Given the description of an element on the screen output the (x, y) to click on. 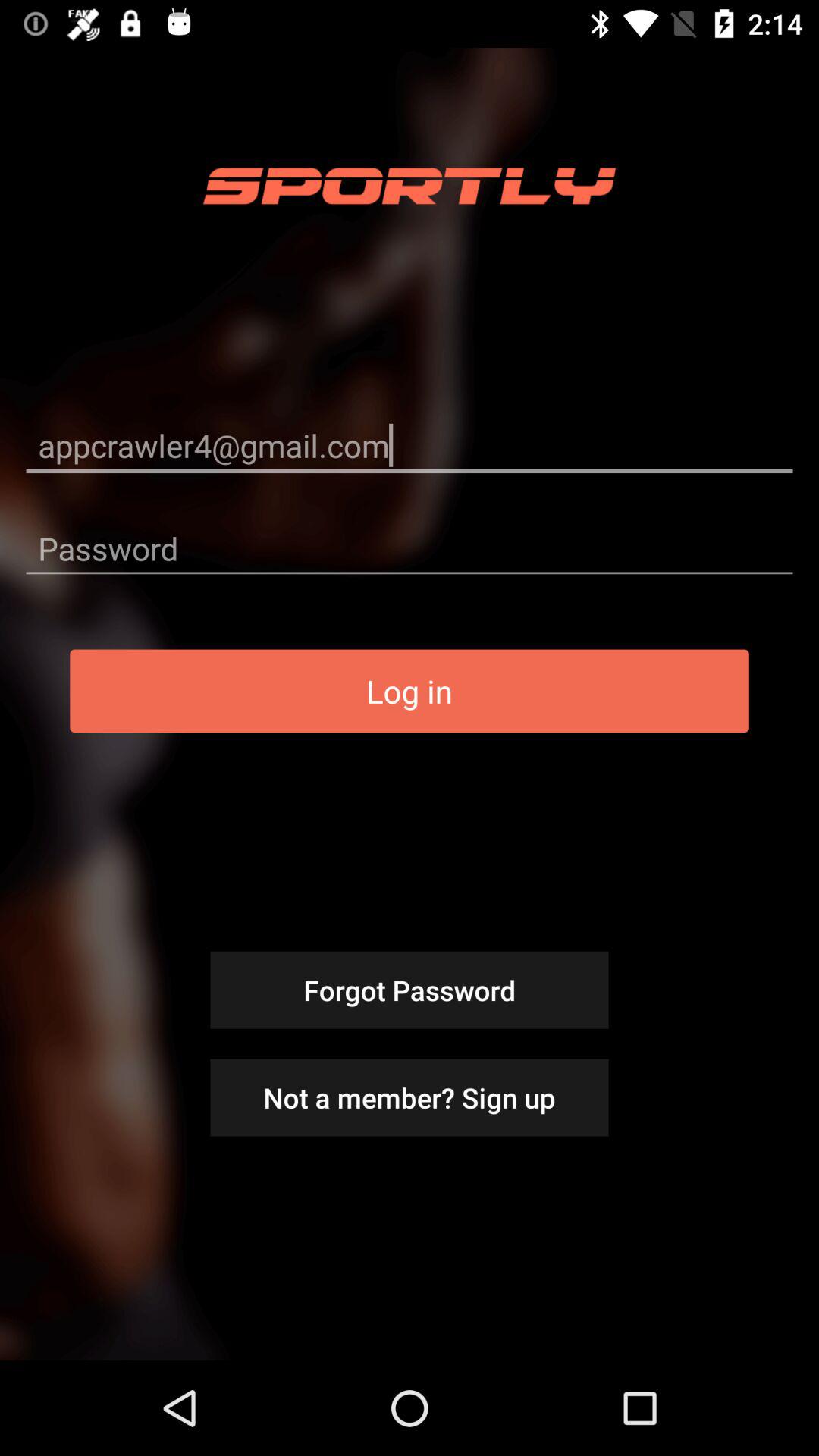
click the item above log in item (409, 547)
